Given the description of an element on the screen output the (x, y) to click on. 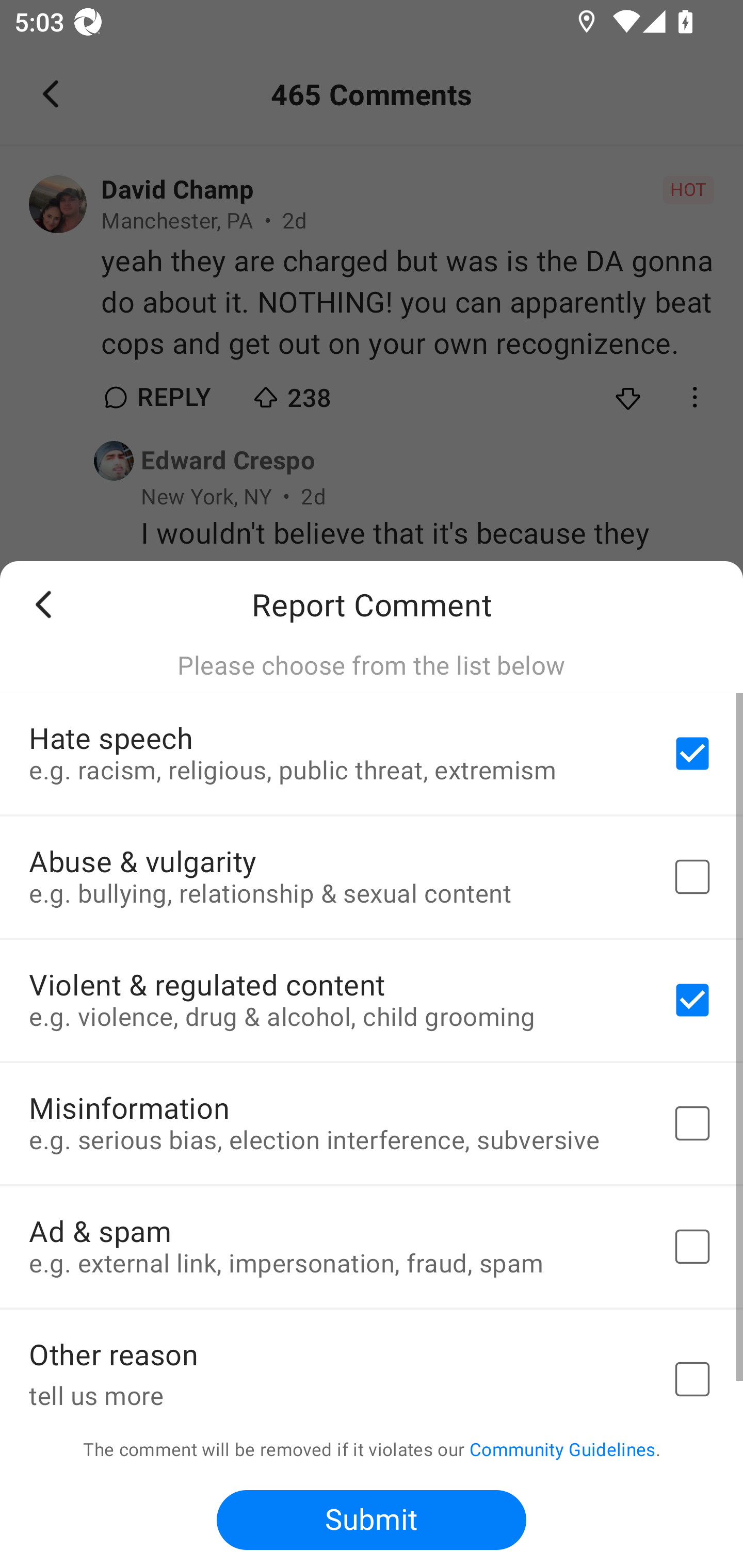
Other reason tell us more (371, 1362)
tell us more (334, 1393)
Submit (371, 1519)
